Given the description of an element on the screen output the (x, y) to click on. 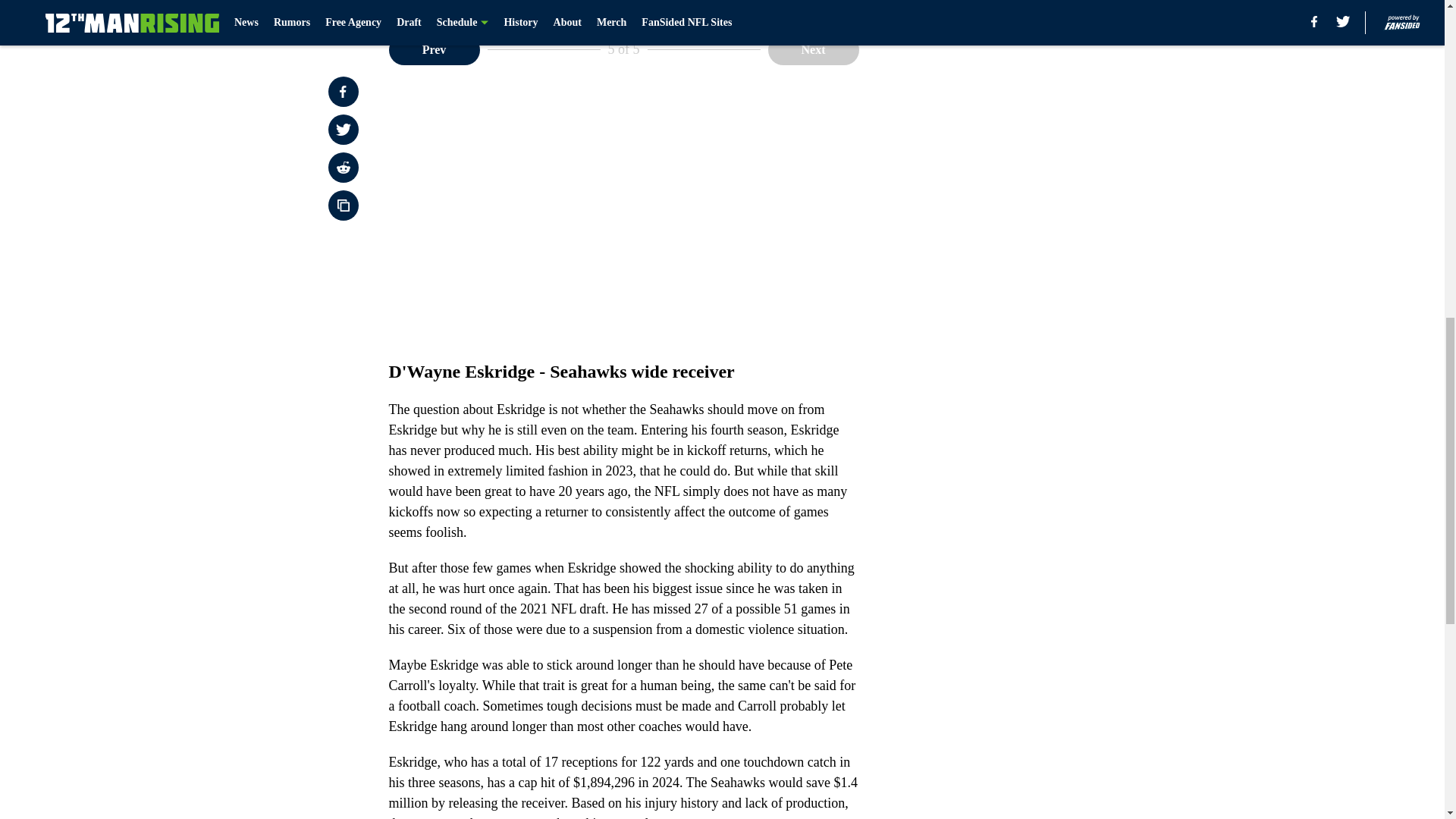
Next (813, 50)
Prev (433, 50)
